Given the description of an element on the screen output the (x, y) to click on. 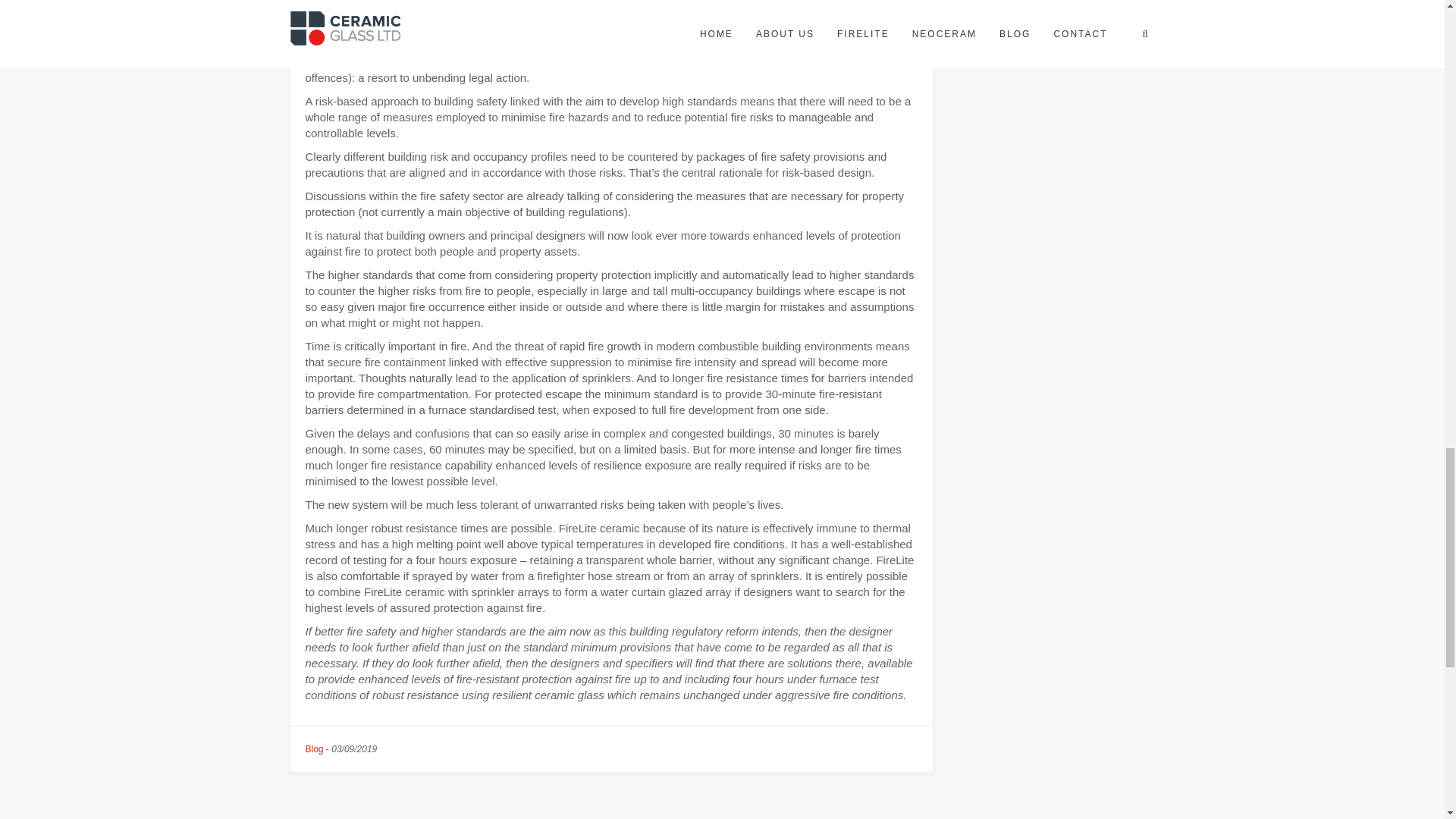
Blog (313, 748)
